Given the description of an element on the screen output the (x, y) to click on. 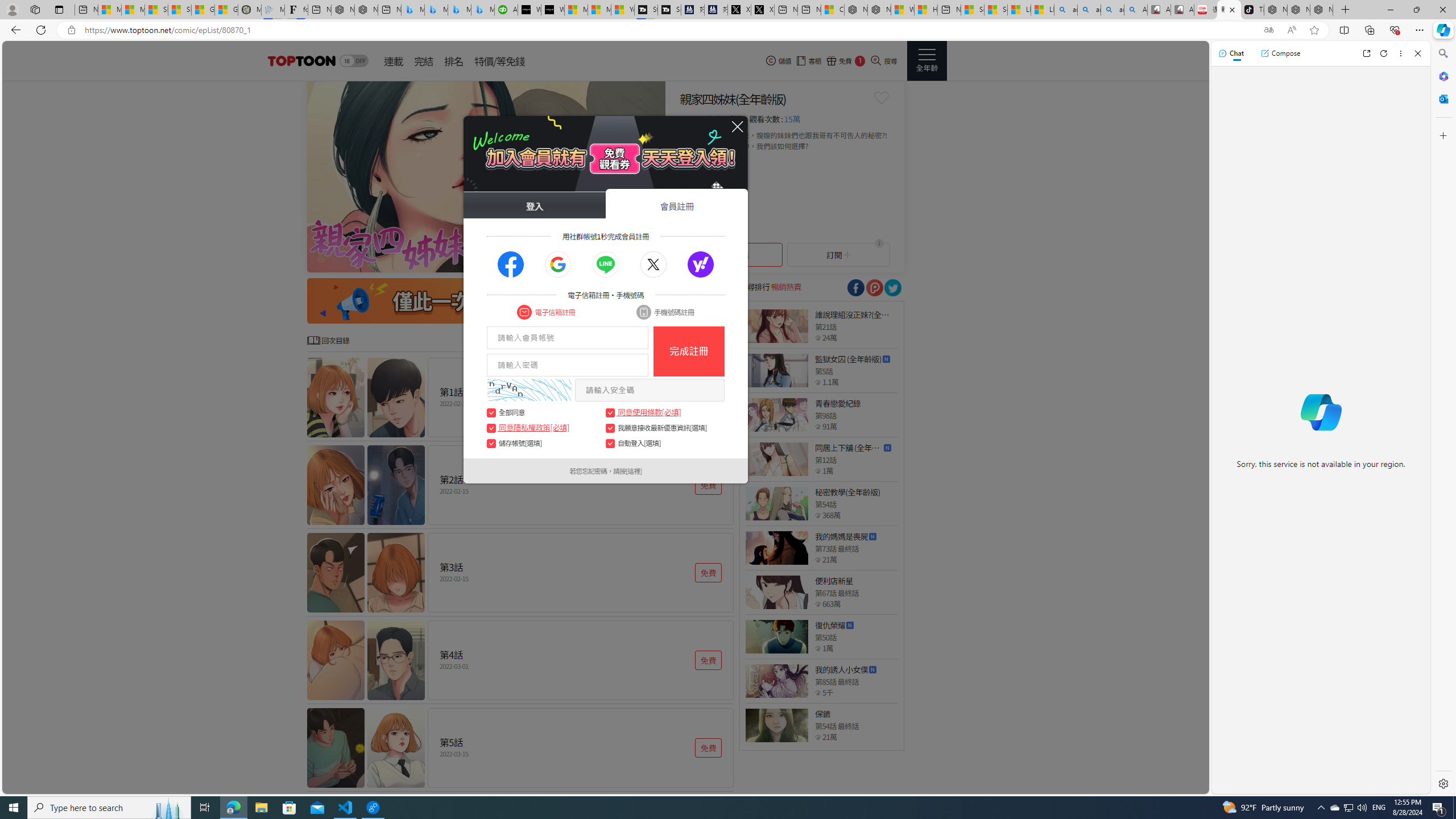
Gilma and Hector both pose tropical trouble for Hawaii (226, 9)
Class: swiper-slide (486, 176)
Microsoft Bing Travel - Stays in Bangkok, Bangkok, Thailand (435, 9)
Streaming Coverage | T3 (645, 9)
captcha (529, 390)
